Given the description of an element on the screen output the (x, y) to click on. 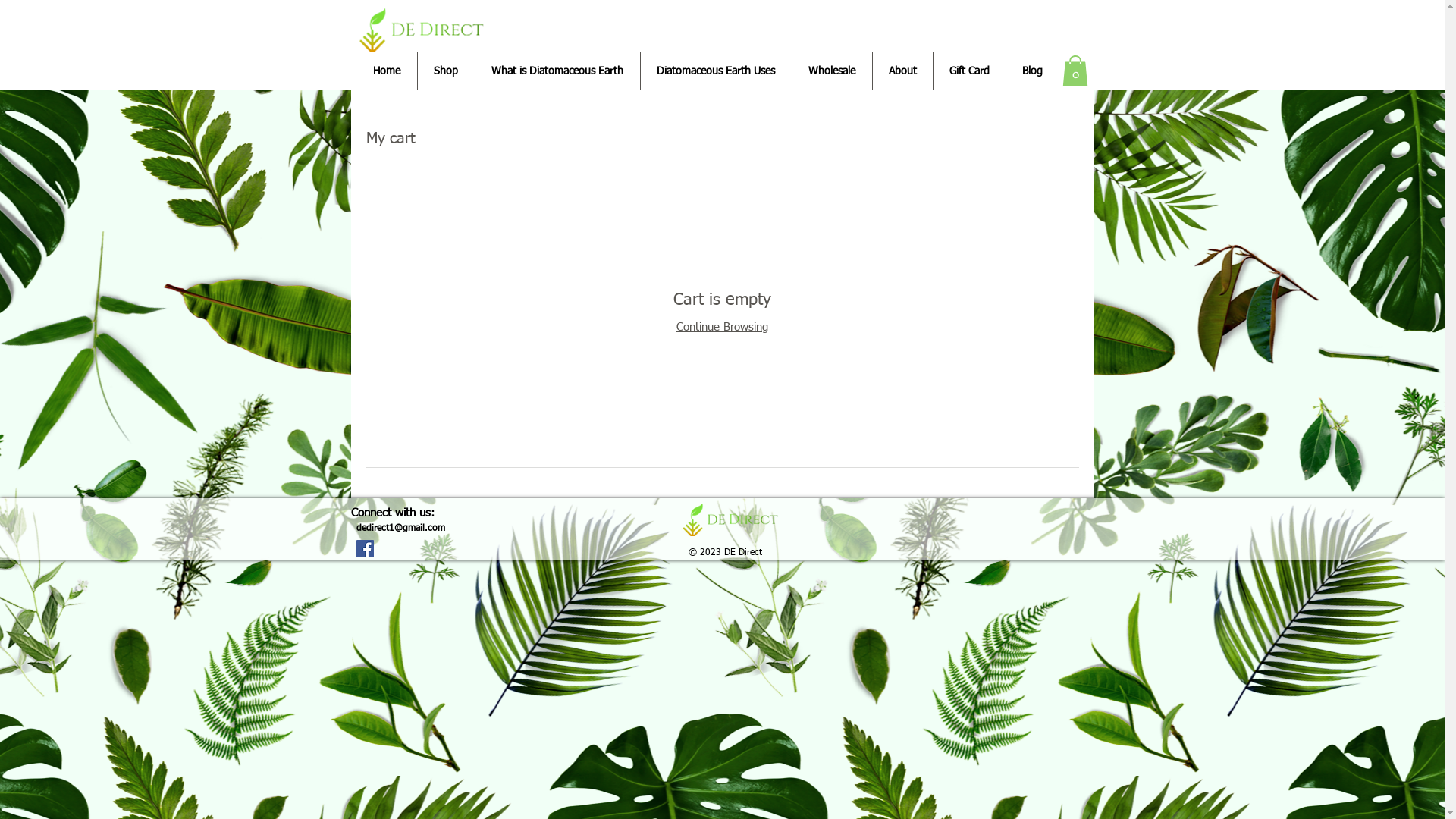
Shop Element type: text (445, 71)
Gift Card Element type: text (968, 71)
Home Element type: text (386, 71)
Wholesale Element type: text (831, 71)
Diatomaceous Earth Uses Element type: text (715, 71)
Continue Browsing Element type: text (722, 326)
dedirect1@gmail.com Element type: text (400, 528)
About Element type: text (901, 71)
0 Element type: text (1074, 70)
What is Diatomaceous Earth Element type: text (556, 71)
Blog Element type: text (1031, 71)
